Given the description of an element on the screen output the (x, y) to click on. 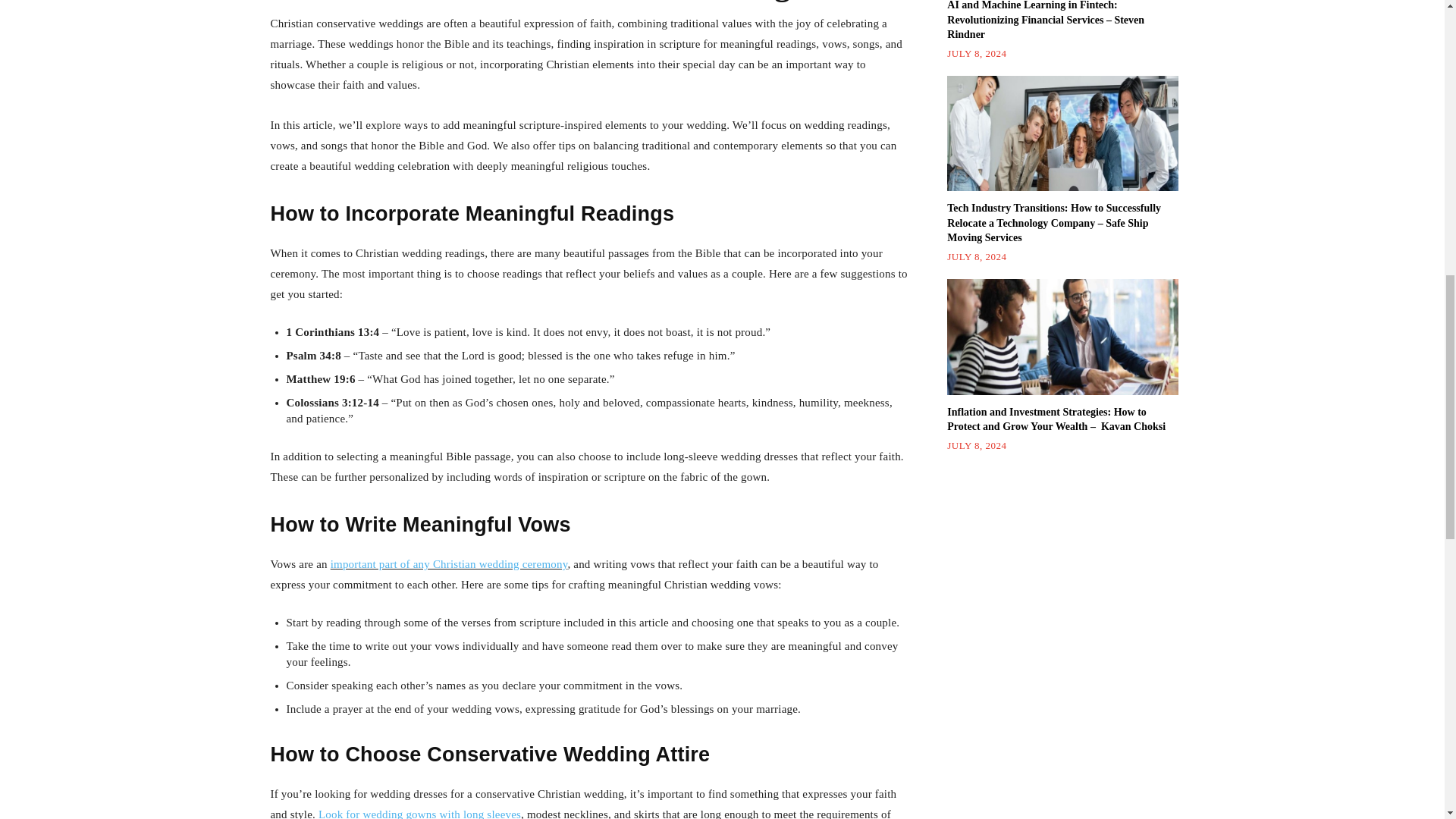
important part of any Christian wedding ceremony (448, 563)
Look for wedding gowns with long sleeves (419, 813)
